Given the description of an element on the screen output the (x, y) to click on. 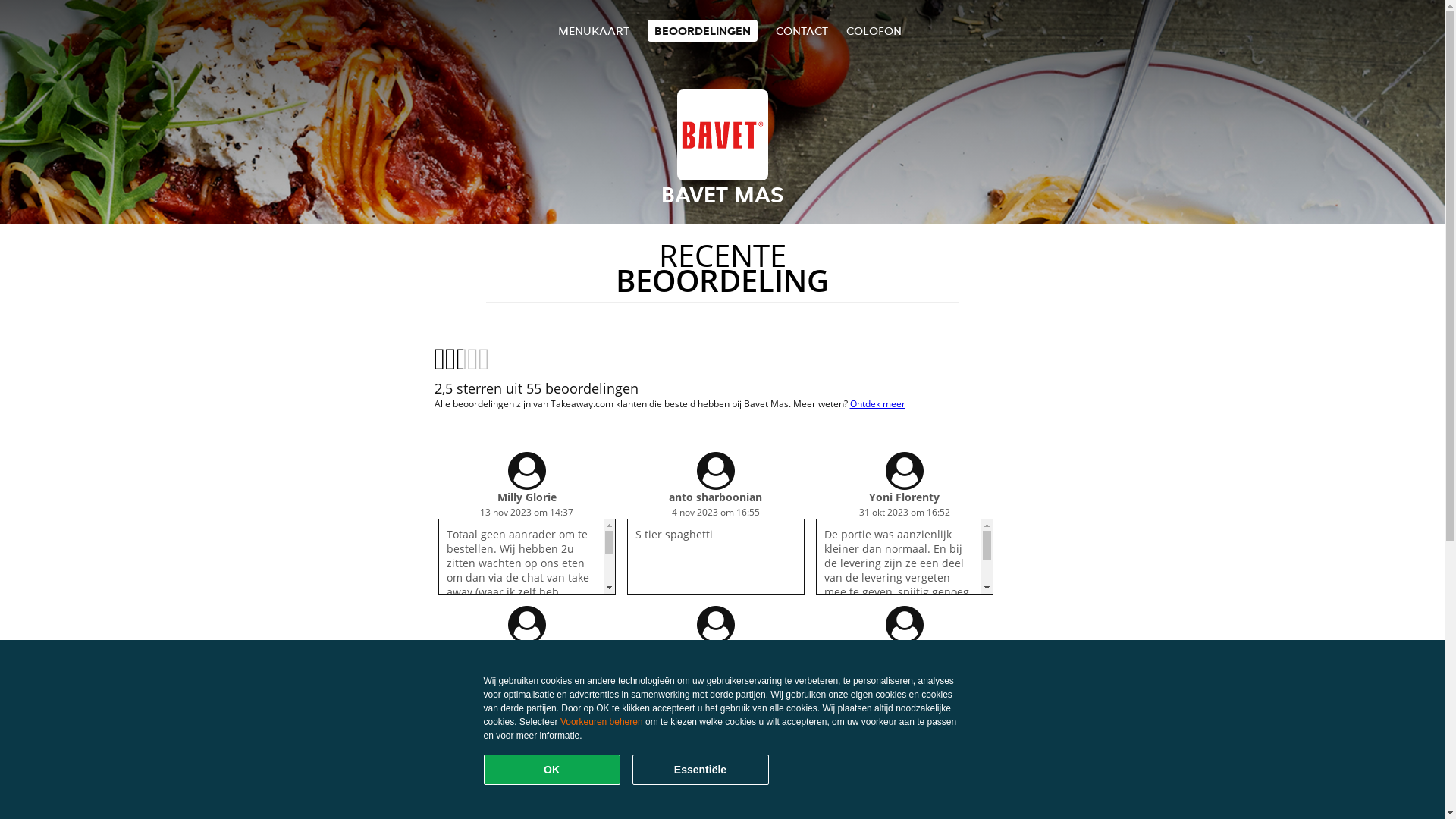
Ontdek meer Element type: text (876, 403)
CONTACT Element type: text (801, 30)
Voorkeuren beheren Element type: text (601, 721)
BEOORDELINGEN Element type: text (702, 30)
OK Element type: text (551, 769)
MENUKAART Element type: text (593, 30)
COLOFON Element type: text (873, 30)
